Given the description of an element on the screen output the (x, y) to click on. 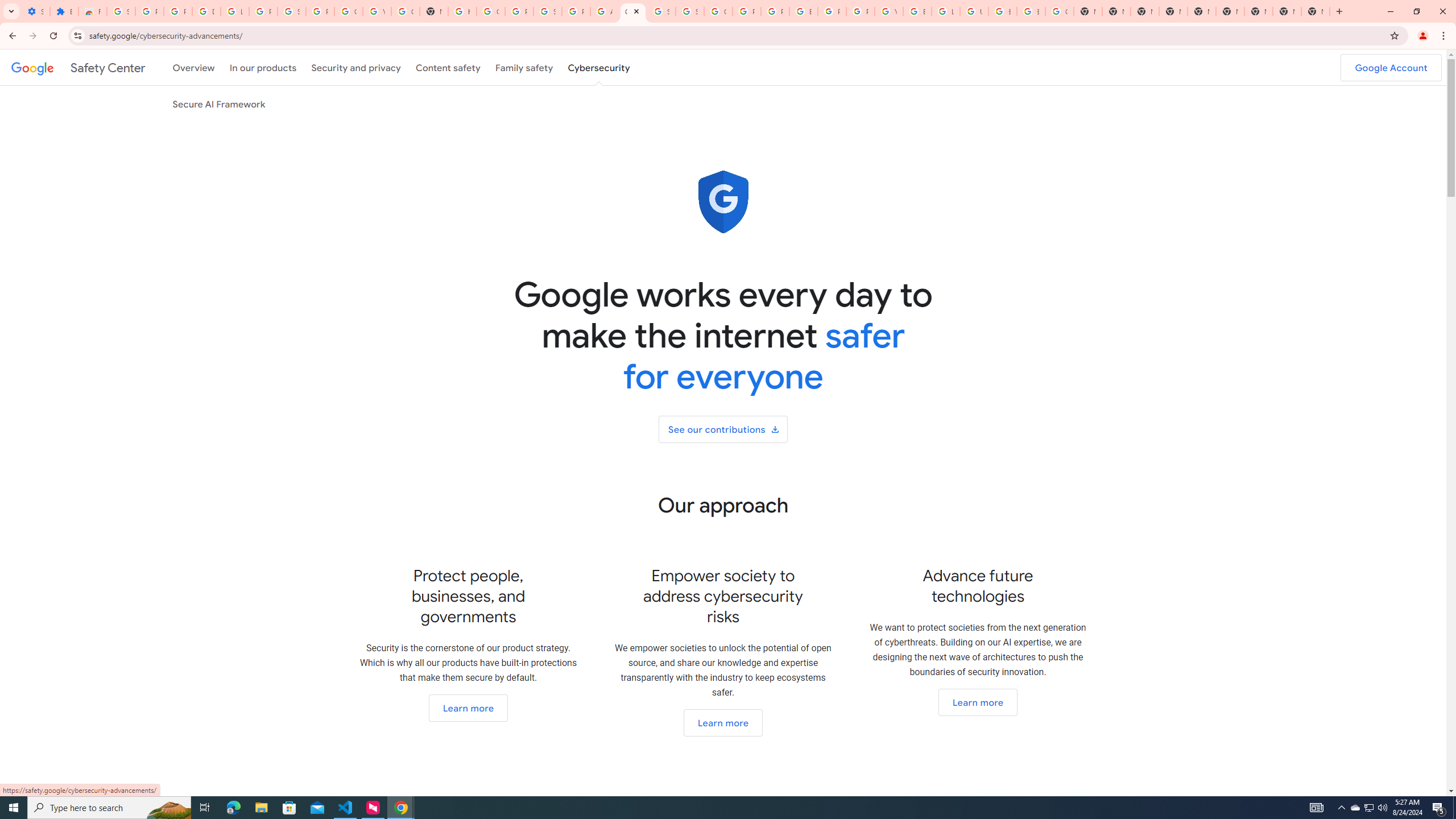
In our products (262, 67)
Google Cybersecurity Innovations - Google Safety Center (632, 11)
Settings - On startup (35, 11)
New Tab (1173, 11)
